Given the description of an element on the screen output the (x, y) to click on. 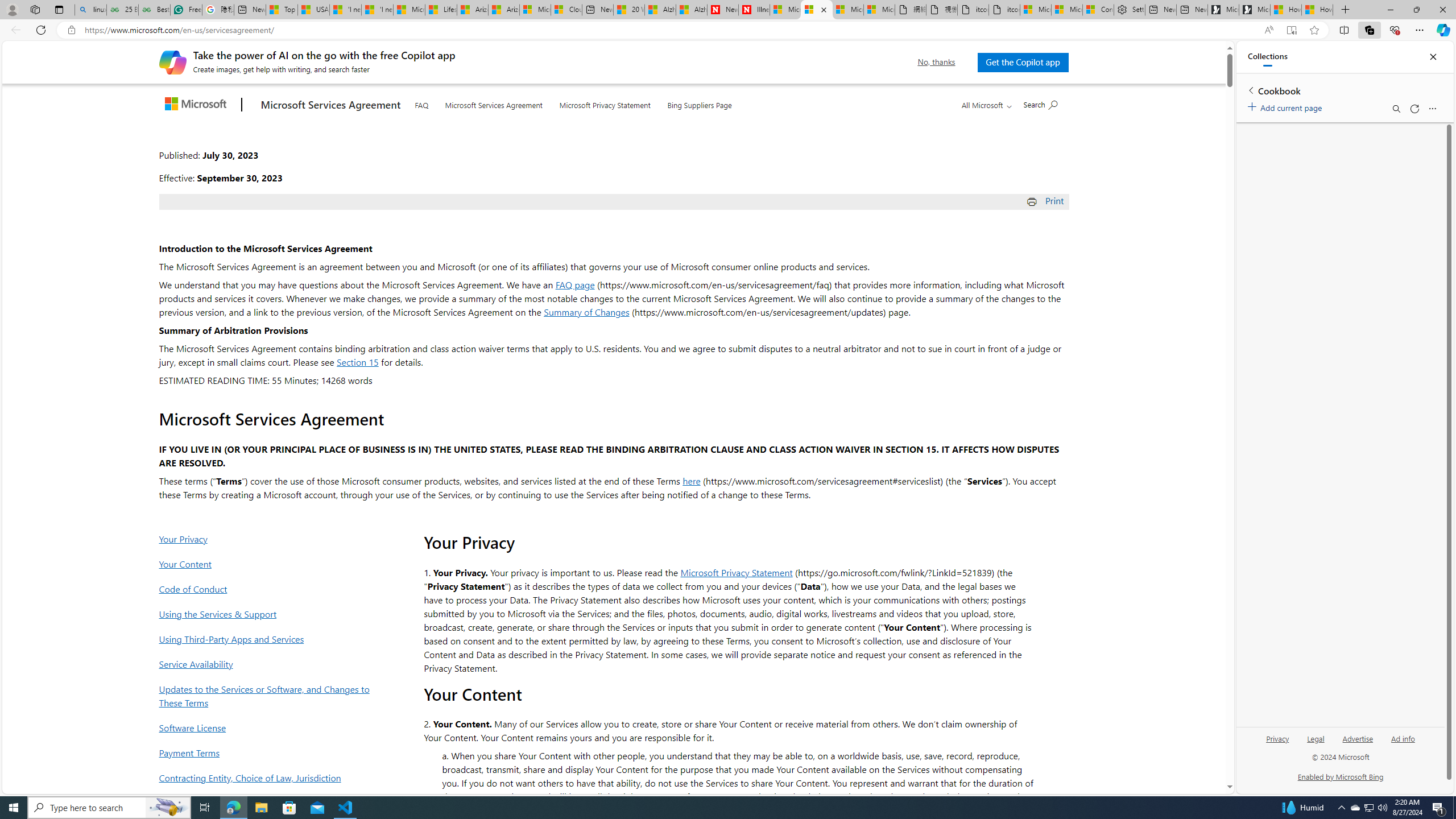
Privacy (1277, 742)
Lifestyle - MSN (440, 9)
Microsoft Services Agreement (493, 103)
20 Ways to Boost Your Protein Intake at Every Meal (628, 9)
How to Use a TV as a Computer Monitor (1317, 9)
Top Stories - MSN (281, 9)
Payment Terms (267, 752)
Enter Immersive Reader (F9) (1291, 29)
Using Third-Party Apps and Services (267, 639)
Add current page (1286, 105)
